Given the description of an element on the screen output the (x, y) to click on. 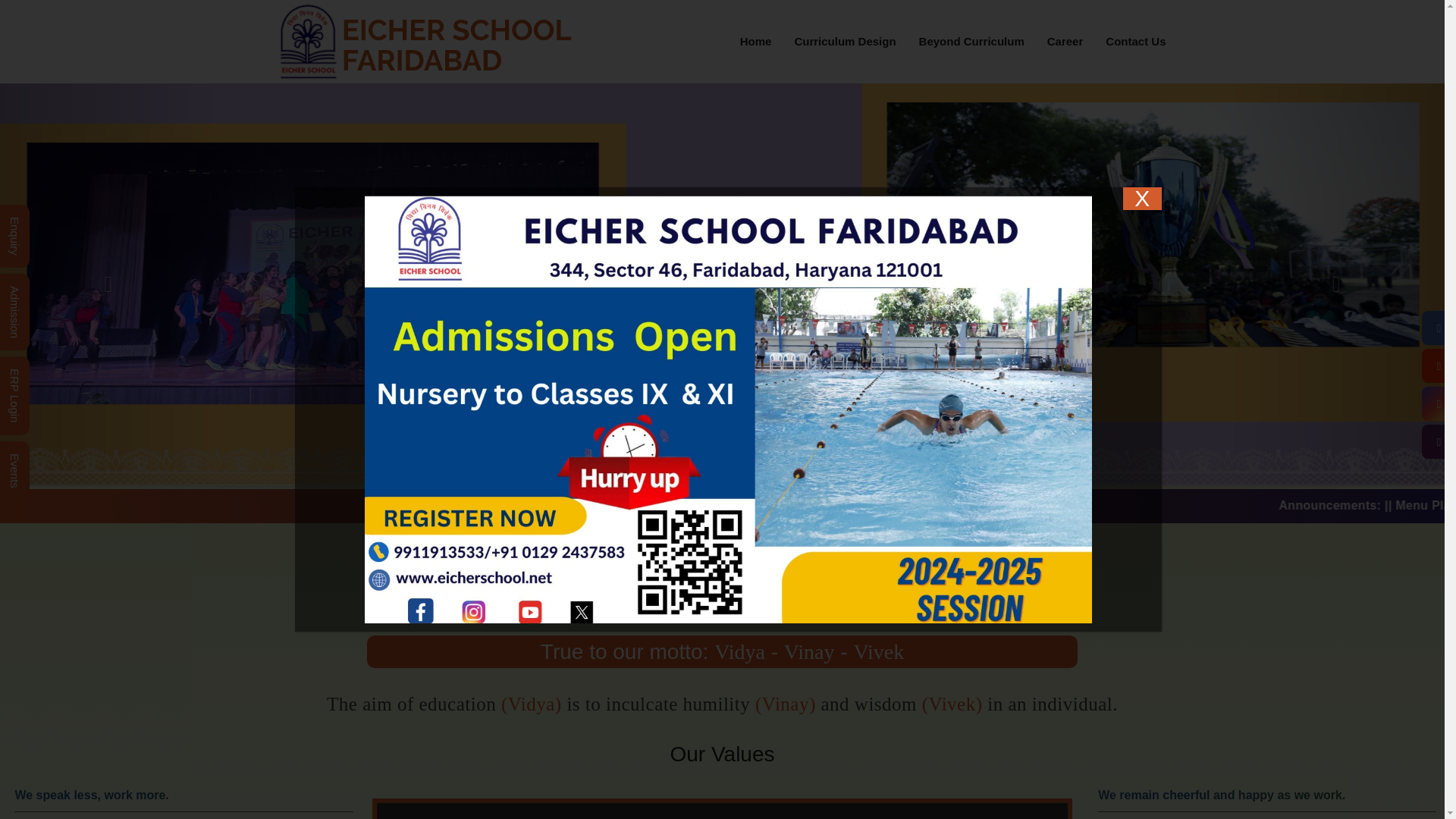
Curriculum Design (844, 41)
ABOUT US (721, 404)
Beyond Curriculum (971, 41)
